Given the description of an element on the screen output the (x, y) to click on. 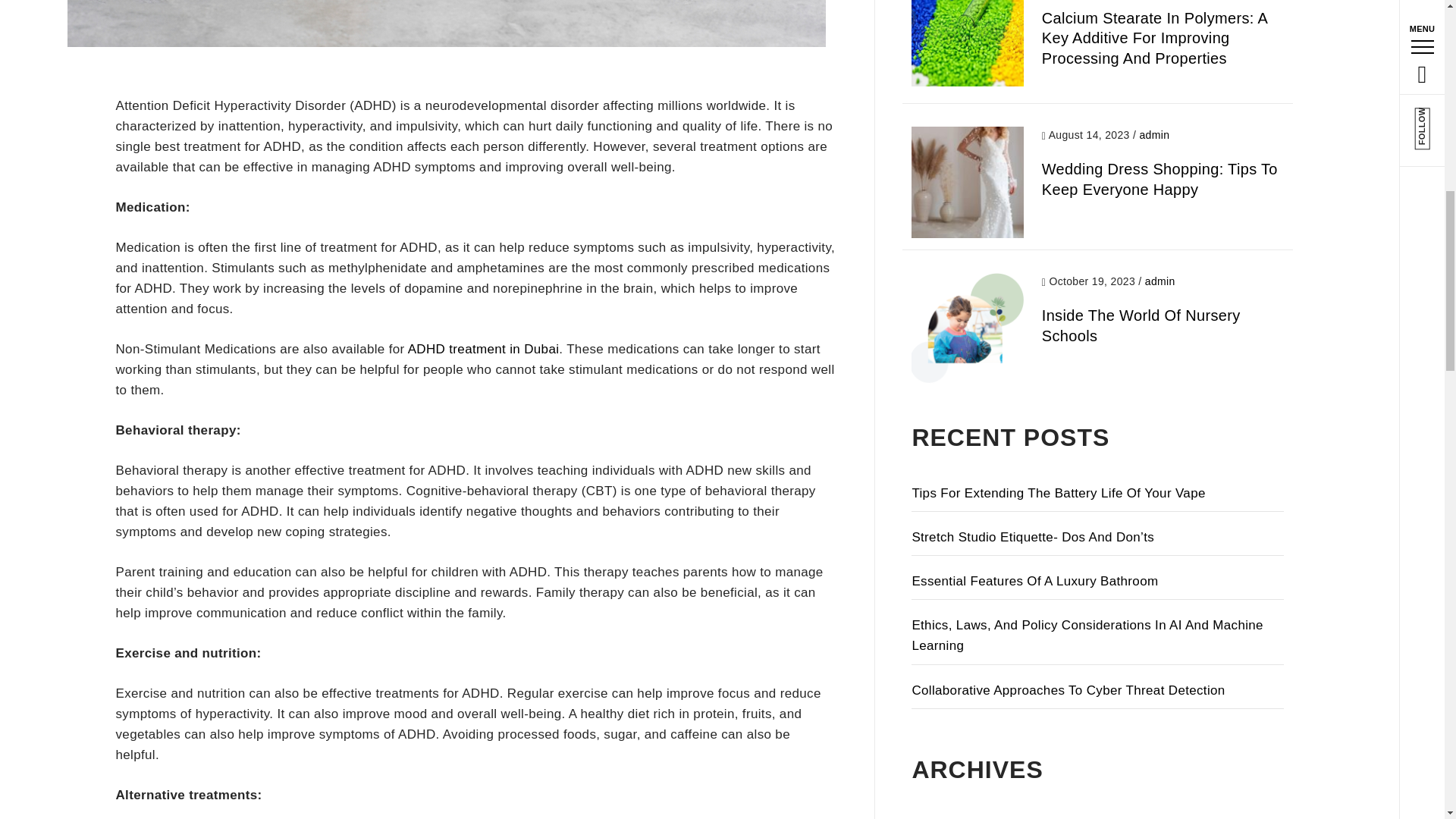
ADHD treatment in Dubai (483, 349)
